Given the description of an element on the screen output the (x, y) to click on. 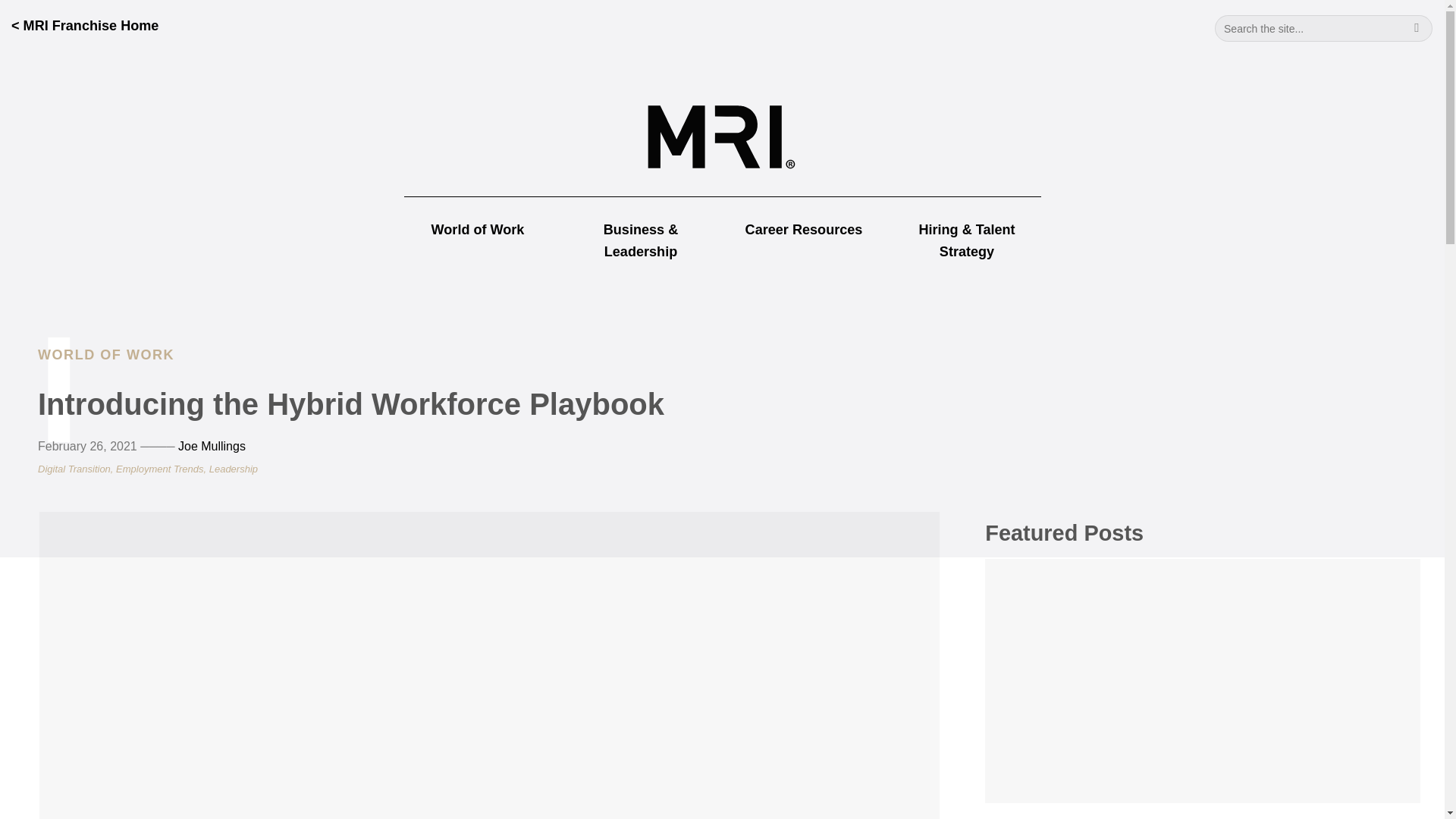
Leadership (233, 469)
Career Resources (804, 229)
Digital Transition (73, 469)
WORLD OF WORK (105, 354)
World of Work (477, 229)
Joe Mullings (211, 445)
Employment Trends (159, 469)
